Given the description of an element on the screen output the (x, y) to click on. 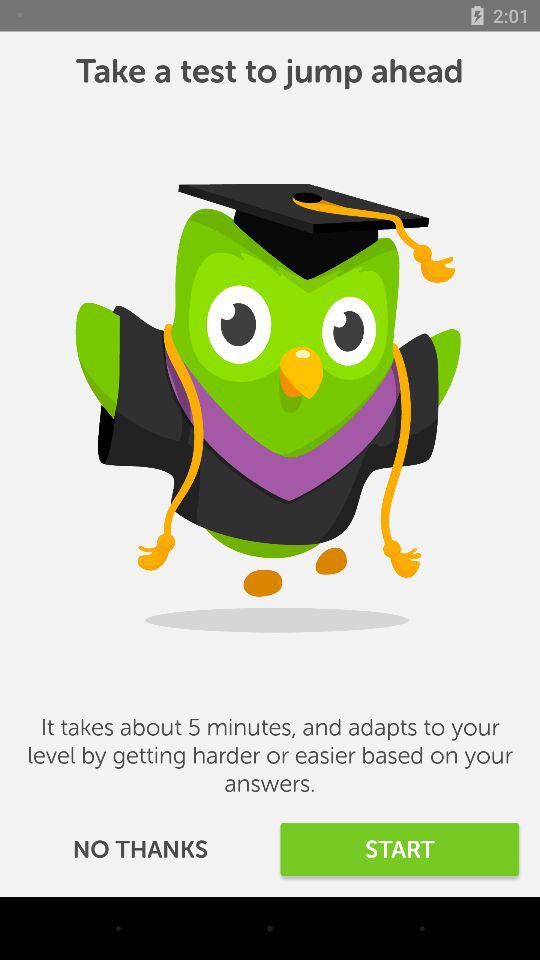
select item below the it takes about item (140, 849)
